Given the description of an element on the screen output the (x, y) to click on. 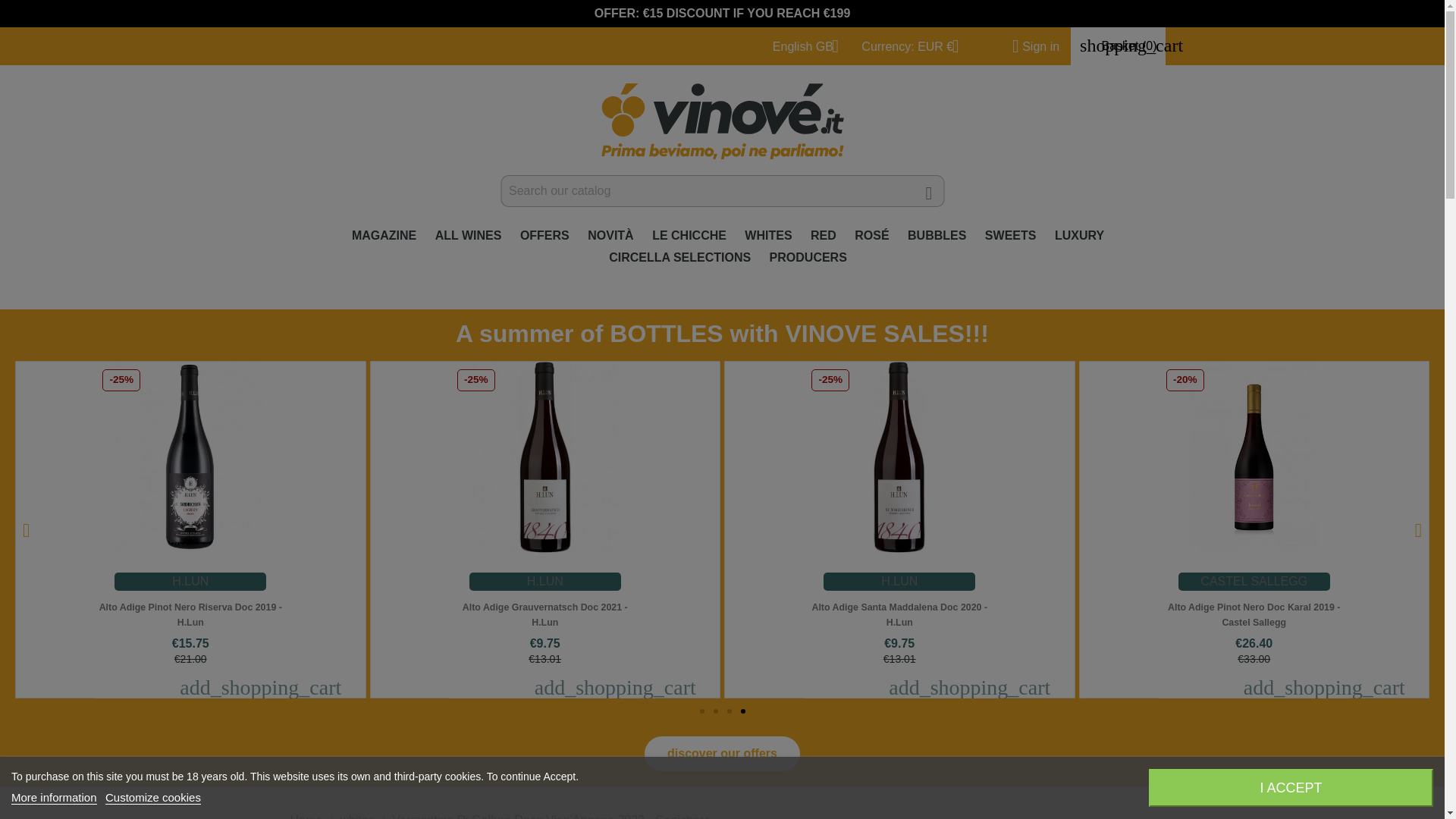
ALL WINES (468, 237)
OFFERS (544, 237)
MAGAZINE (383, 237)
Log in to your customer account (1030, 46)
LE CHICCHE (689, 237)
WHITES (767, 237)
